Given the description of an element on the screen output the (x, y) to click on. 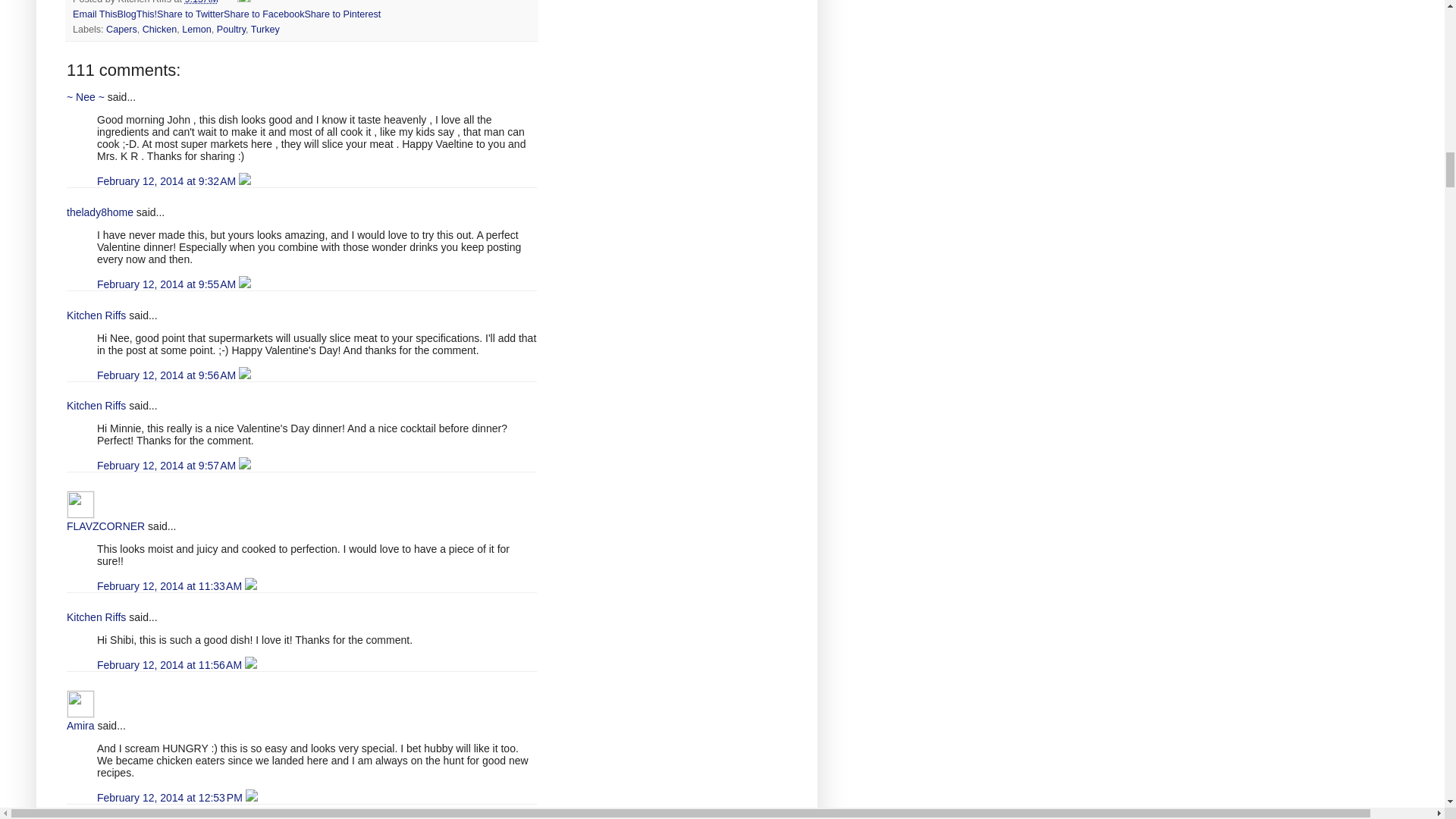
Share to Pinterest (342, 14)
Delete Comment (244, 181)
Poultry (231, 29)
permanent link (201, 2)
Share to Facebook (264, 14)
Chicken (159, 29)
Share to Facebook (264, 14)
Lemon (196, 29)
Edit Post (243, 2)
Email Post (229, 2)
Share to Twitter (190, 14)
Email This (94, 14)
comment permalink (167, 181)
BlogThis! (137, 14)
